Given the description of an element on the screen output the (x, y) to click on. 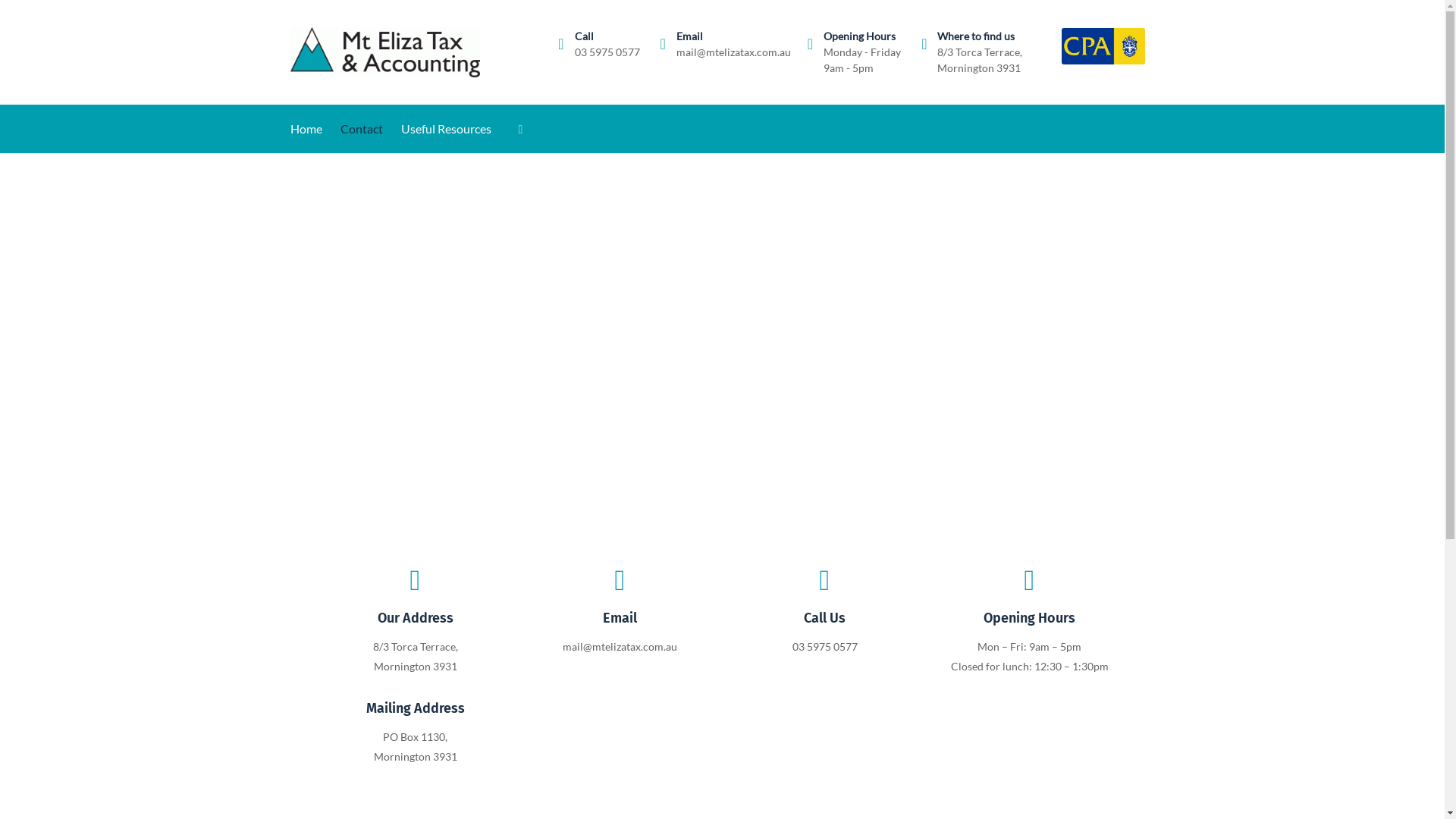
03 5975 0577 Element type: text (607, 51)
Useful Resources Element type: text (454, 128)
Contact Element type: text (369, 128)
Home Element type: text (314, 128)
Email
mail@mtelizatax.com.au Element type: text (619, 610)
mail@mtelizatax.com.au Element type: text (733, 51)
